Given the description of an element on the screen output the (x, y) to click on. 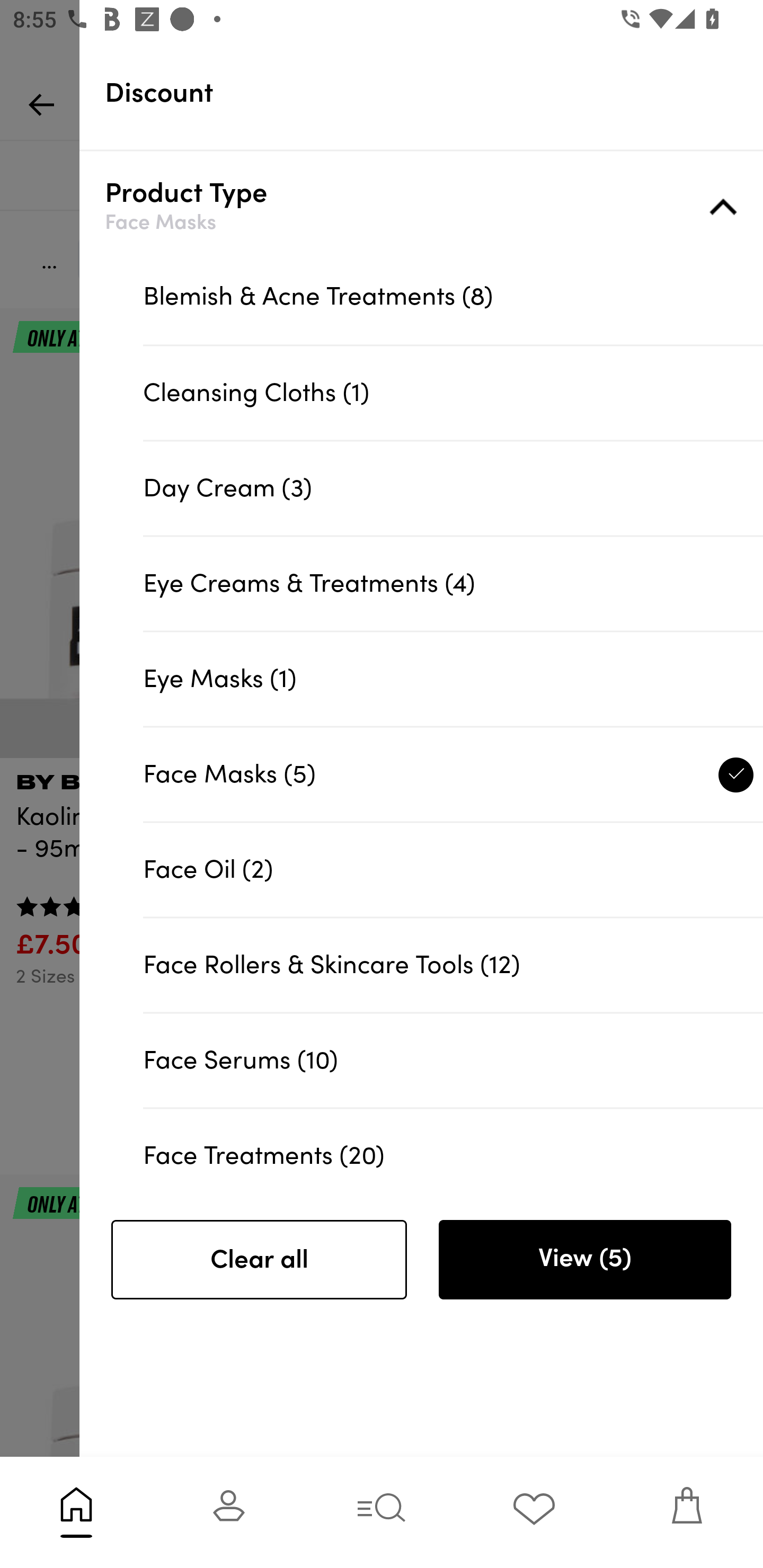
Discount (434, 92)
Blemish & Acne Treatments (8) (453, 296)
Cleansing Cloths (1) (453, 392)
Day Cream (3) (453, 488)
Eye Creams & Treatments (4) (453, 583)
Eye Masks (1) (453, 677)
Face Masks (5)  (453, 773)
Face Oil (2) (453, 869)
Face Rollers & Skincare Tools (12) (453, 964)
Face Treatments (20) (453, 1147)
Clear all (258, 1259)
View (5) (584, 1259)
